Given the description of an element on the screen output the (x, y) to click on. 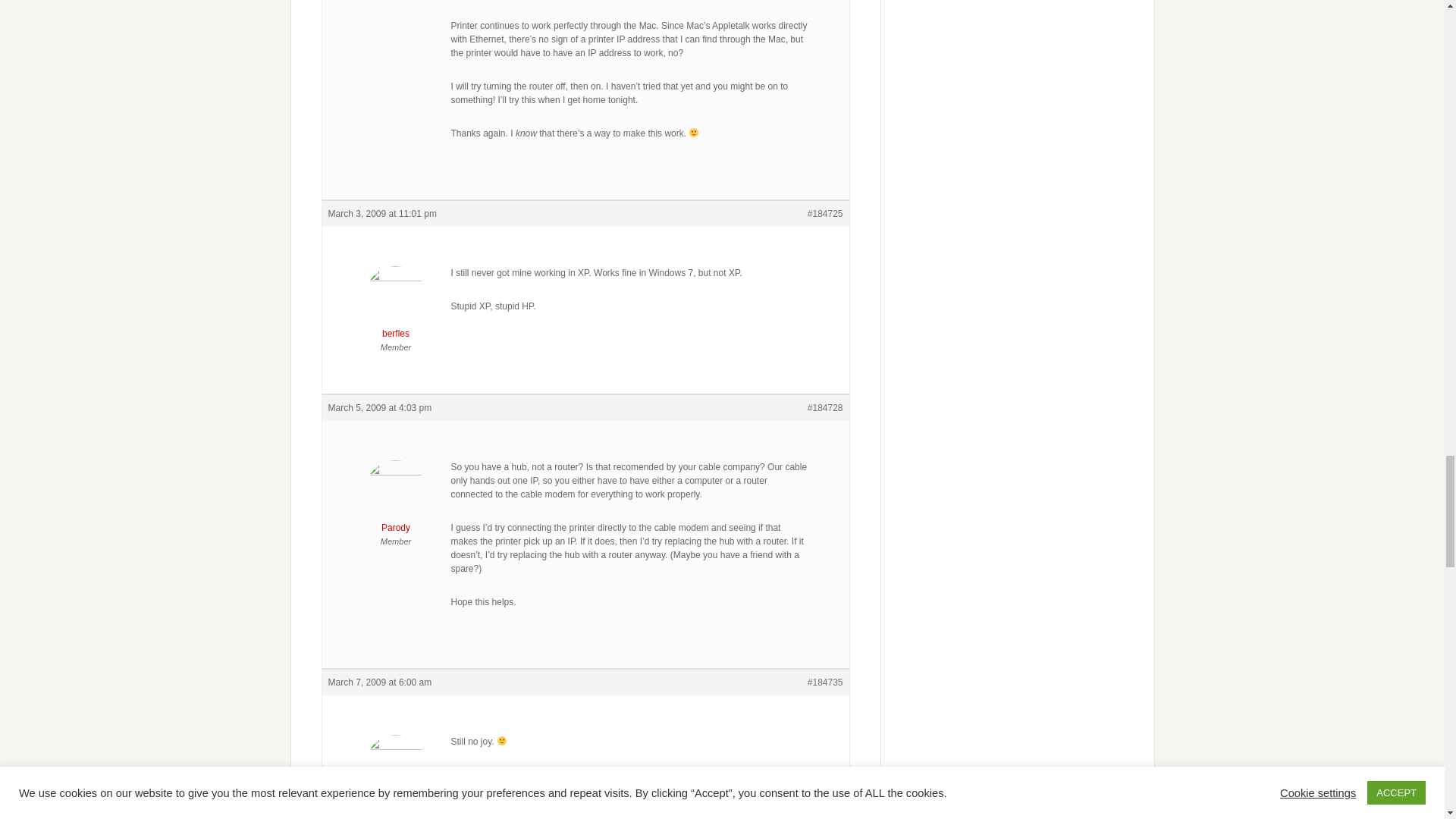
View berfles's profile (395, 306)
View JOrkney95's profile (395, 775)
View Parody's profile (395, 500)
